Given the description of an element on the screen output the (x, y) to click on. 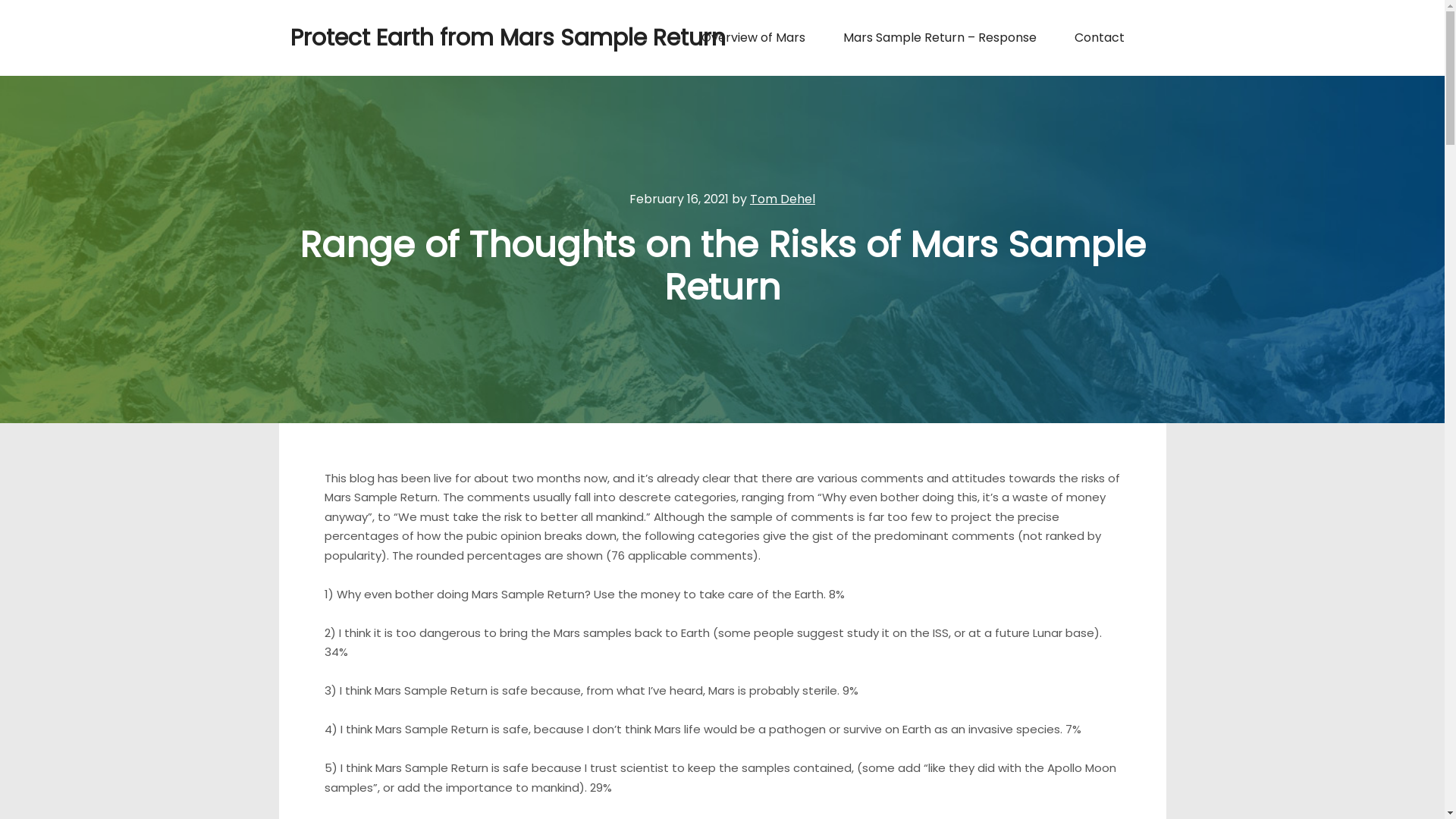
Contact Element type: text (1099, 37)
Protect Earth from Mars Sample Return Element type: text (365, 37)
Tom Dehel Element type: text (782, 198)
Overview of Mars Element type: text (753, 37)
